Given the description of an element on the screen output the (x, y) to click on. 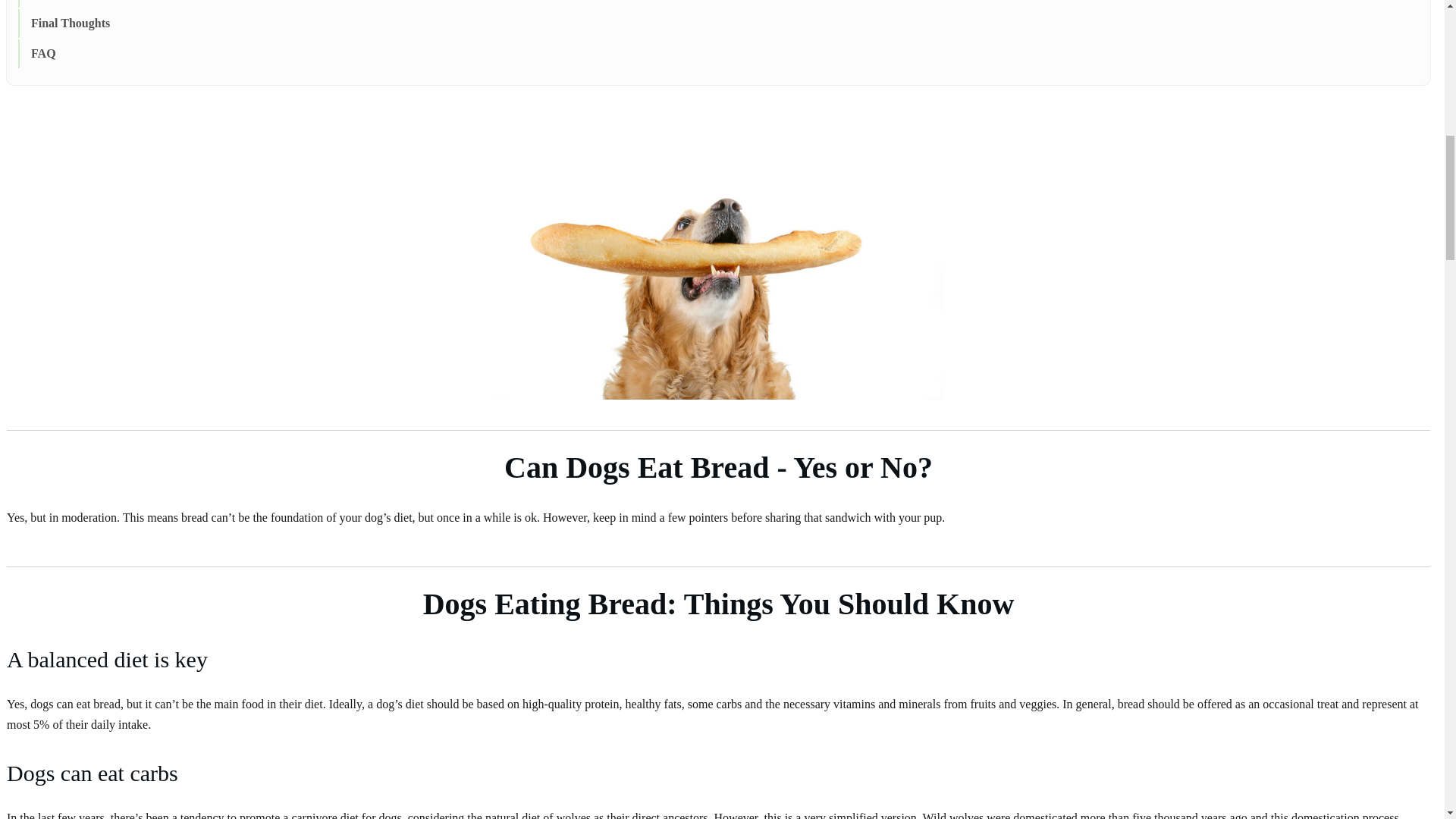
FAQ (43, 53)
FAQ (43, 53)
Final Thoughts (70, 23)
Final Thoughts (70, 23)
